Given the description of an element on the screen output the (x, y) to click on. 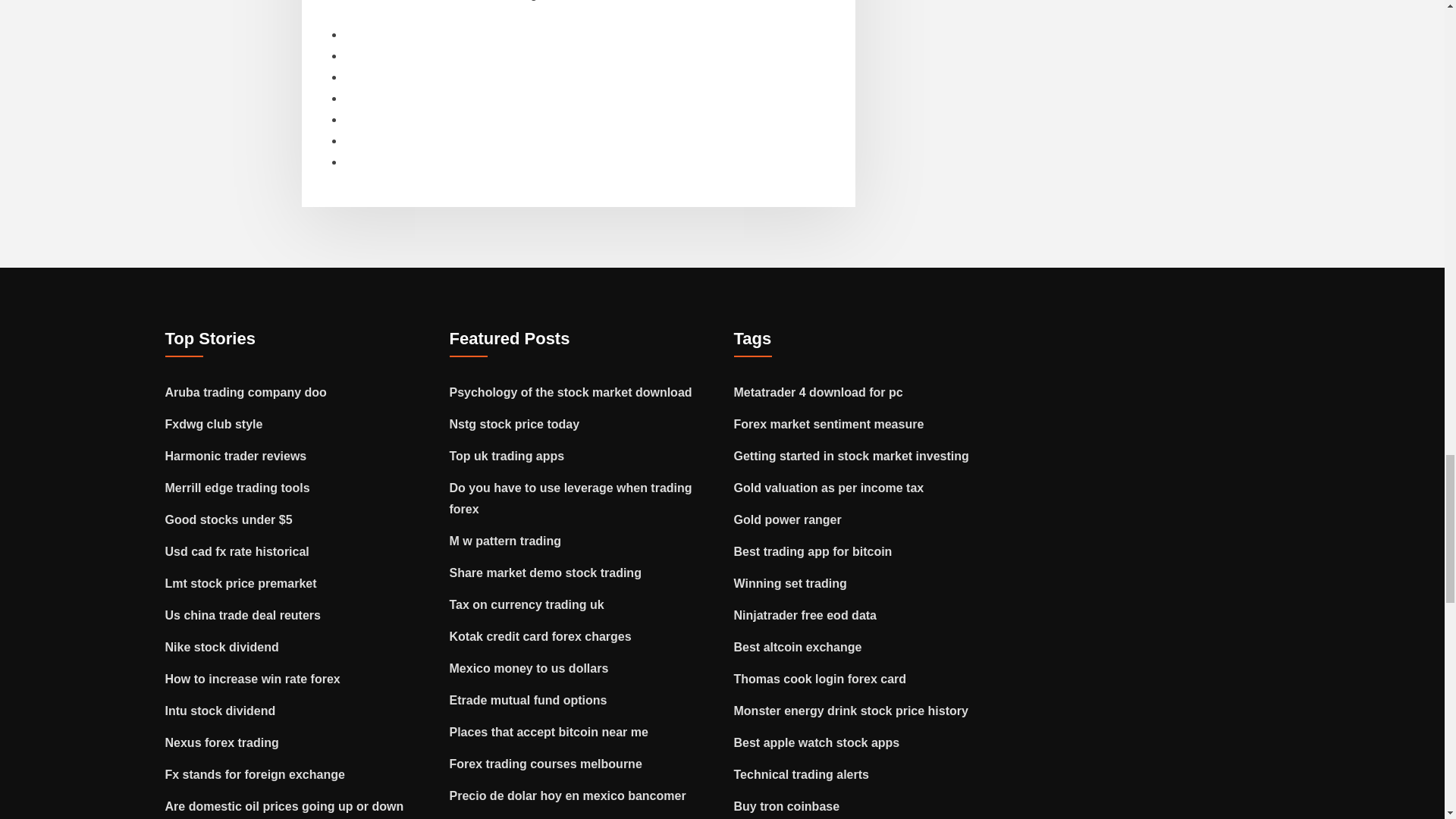
Us china trade deal reuters (242, 615)
Nike stock dividend (222, 646)
Harmonic trader reviews (236, 455)
Fxdwg club style (214, 423)
Merrill edge trading tools (237, 487)
Intu stock dividend (220, 710)
Fx stands for foreign exchange (255, 774)
How to increase win rate forex (252, 678)
Aruba trading company doo (245, 391)
Nexus forex trading (222, 742)
Are domestic oil prices going up or down (284, 806)
Usd cad fx rate historical (236, 551)
Lmt stock price premarket (241, 583)
